Given the description of an element on the screen output the (x, y) to click on. 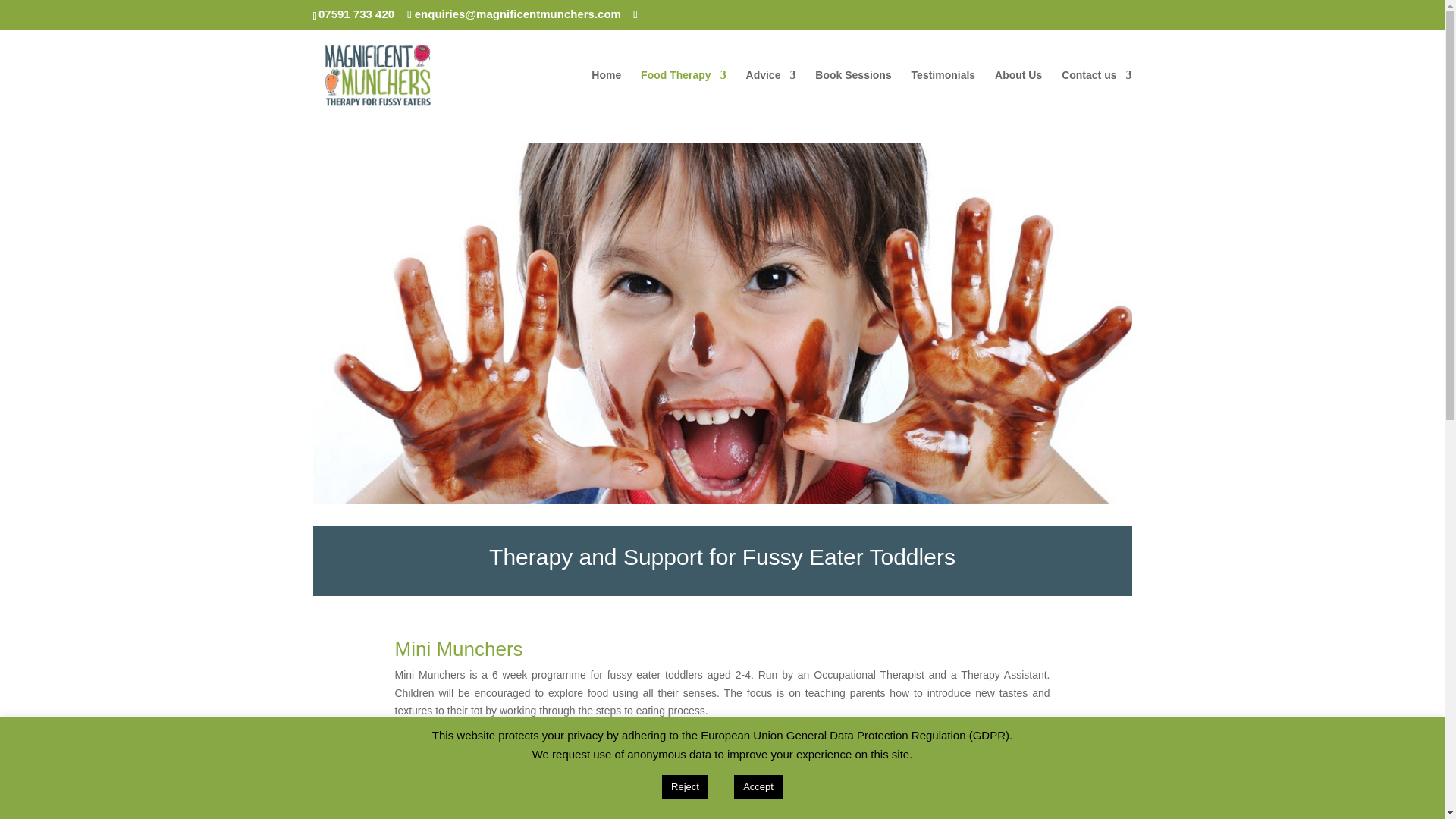
Food Therapy (683, 94)
Testimonials (943, 94)
About Us (1018, 94)
Contact us (1096, 94)
Advice (770, 94)
Book Sessions (853, 94)
